Given the description of an element on the screen output the (x, y) to click on. 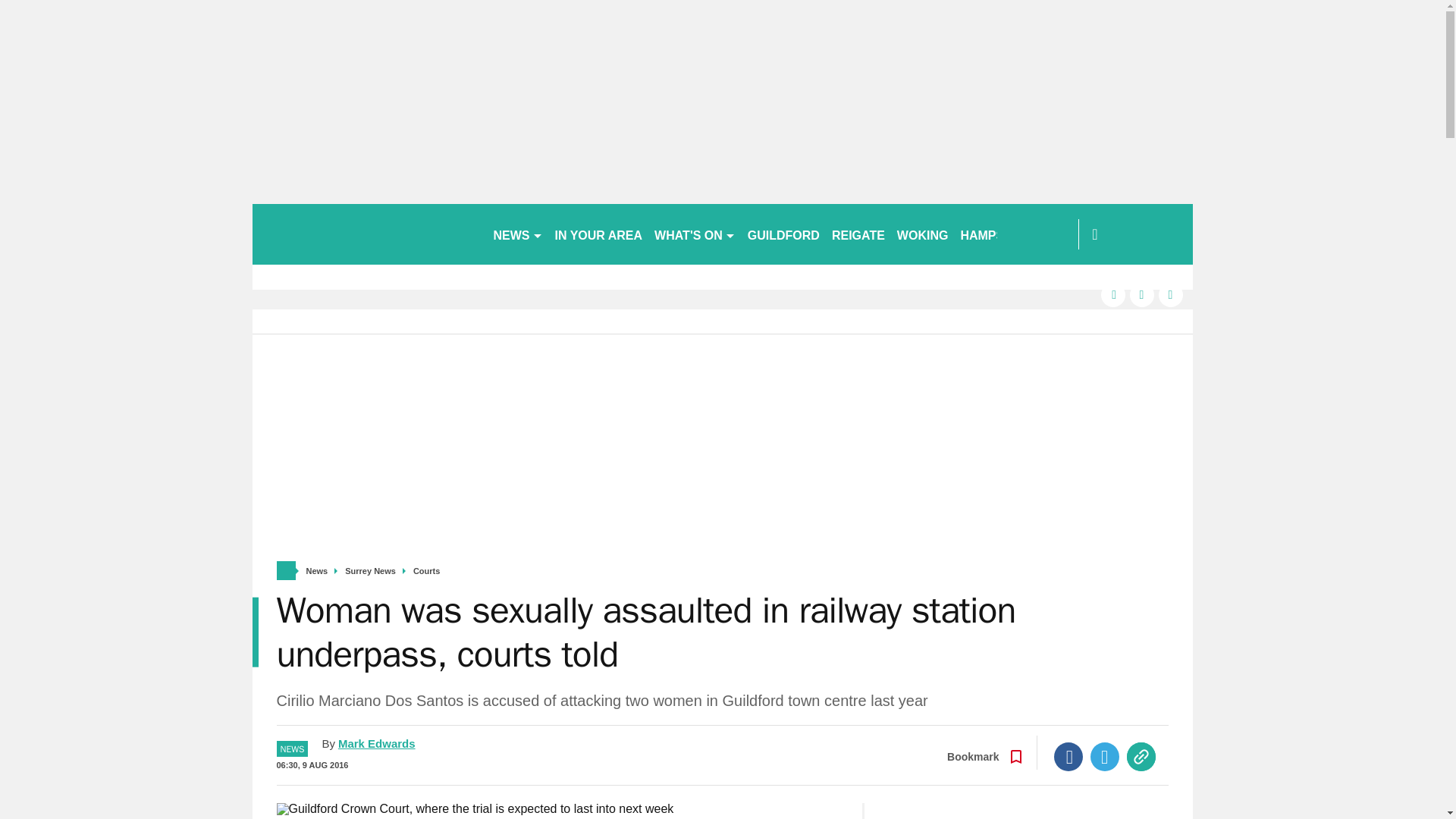
getsurrey (365, 233)
twitter (1141, 294)
instagram (1170, 294)
facebook (1112, 294)
IN YOUR AREA (598, 233)
REIGATE (858, 233)
HAMPSHIRE (996, 233)
Twitter (1104, 756)
WHAT'S ON (694, 233)
GUILDFORD (783, 233)
